Given the description of an element on the screen output the (x, y) to click on. 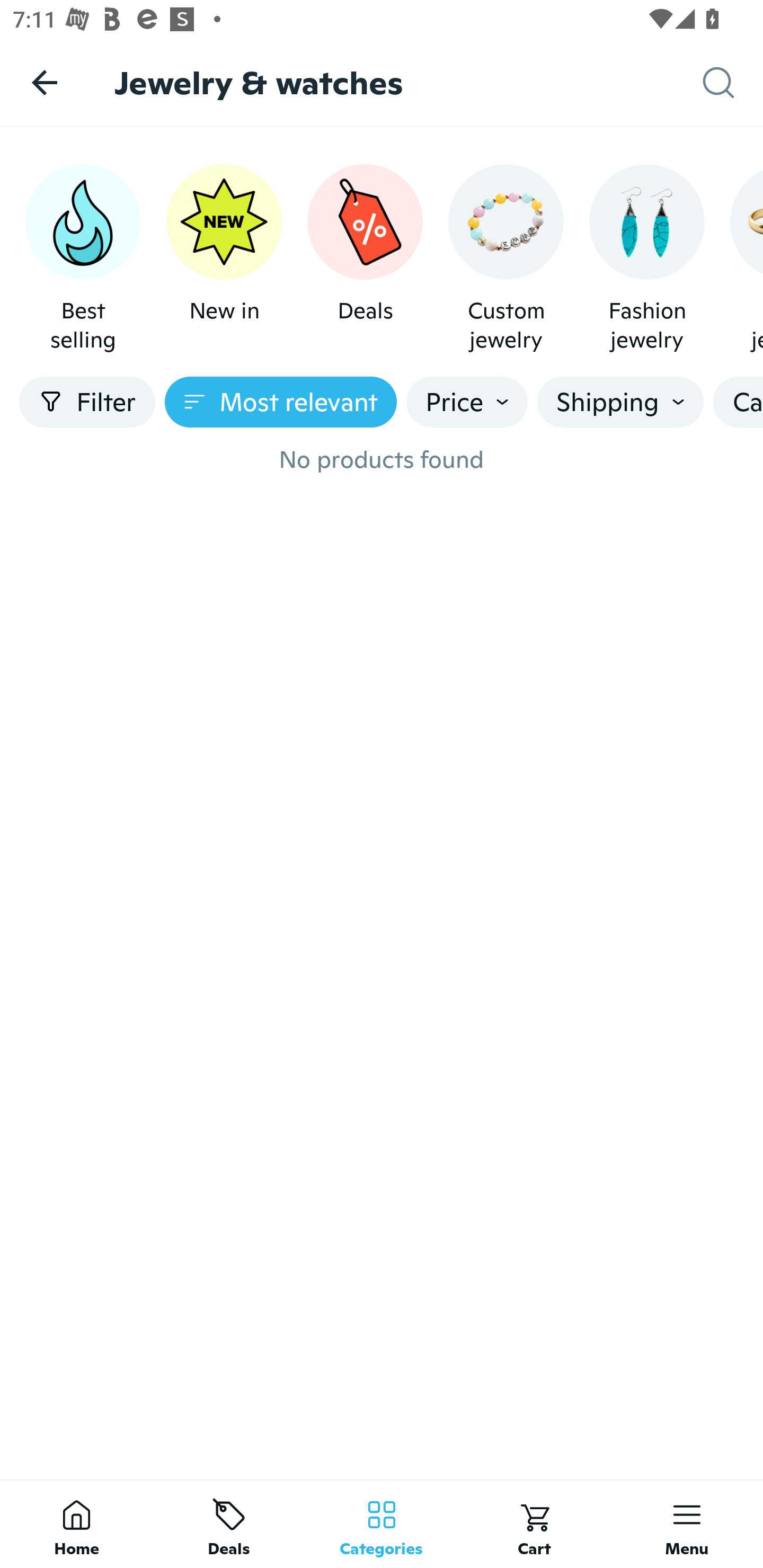
Navigate up (44, 82)
Search (732, 82)
Best selling (83, 259)
New in (223, 259)
Deals (364, 259)
Custom jewelry (505, 259)
Fashion jewelry (647, 259)
Filter (86, 402)
Most relevant (280, 402)
Price (466, 402)
Shipping (620, 402)
Home (76, 1523)
Deals (228, 1523)
Categories (381, 1523)
Cart (533, 1523)
Menu (686, 1523)
